Given the description of an element on the screen output the (x, y) to click on. 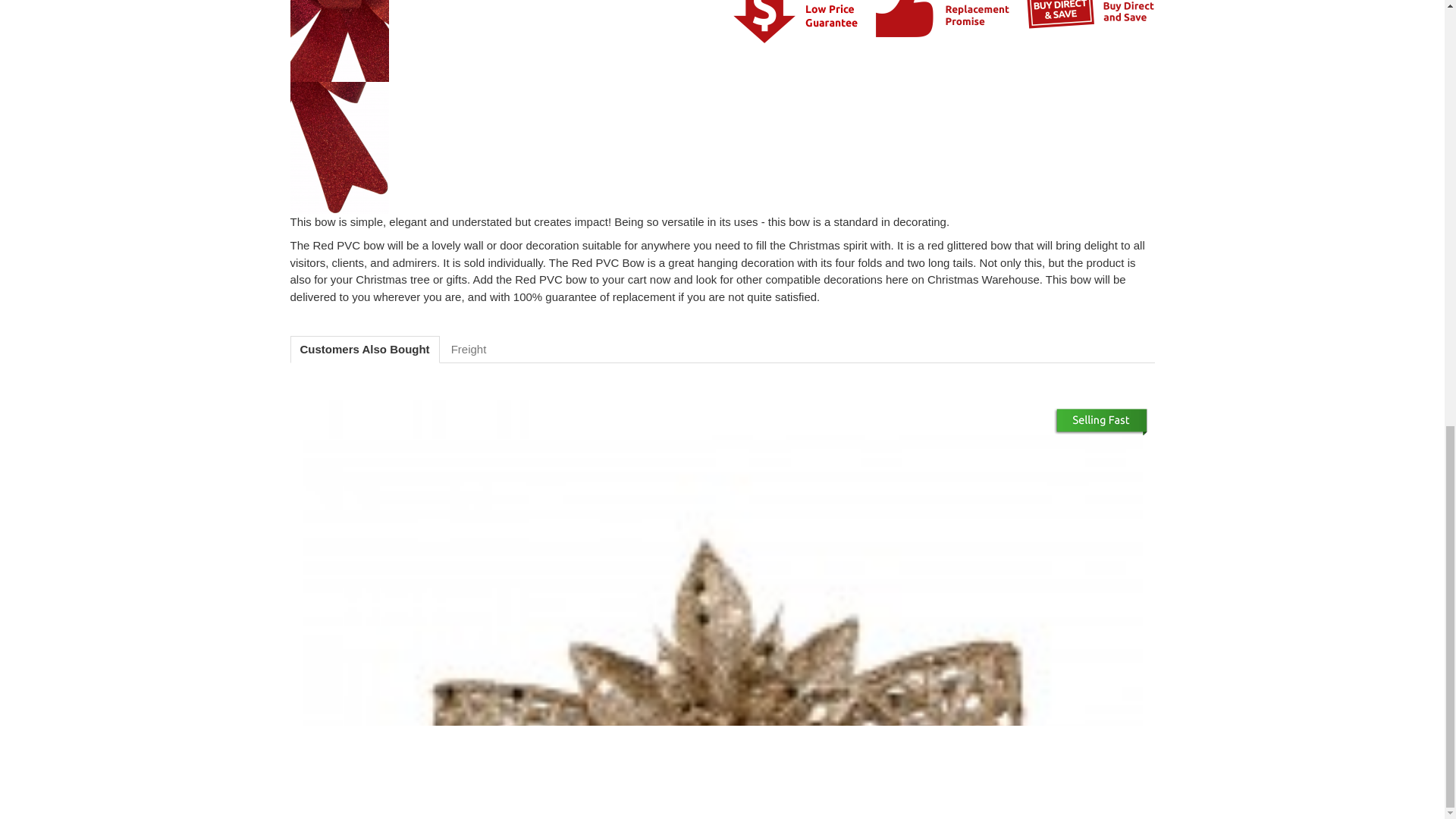
Red Glitter PVC Christmas Tree Bow Decoration - 24cm (338, 40)
